Given the description of an element on the screen output the (x, y) to click on. 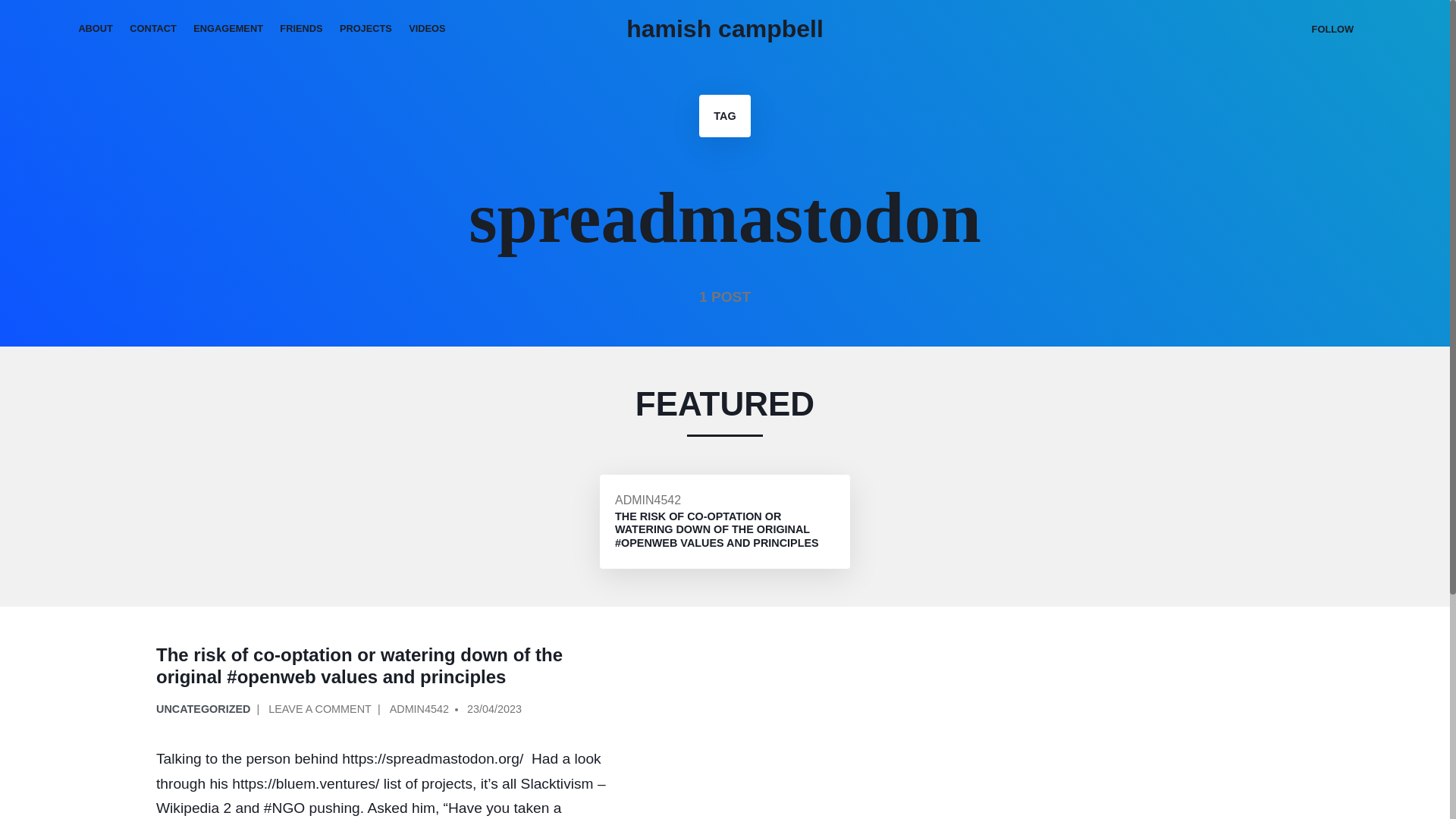
ABOUT (94, 28)
hamish campbell (725, 28)
CONTACT (152, 28)
PROJECTS (365, 28)
VIDEOS (427, 28)
FOLLOW (1332, 29)
Hamish Campbell (725, 28)
ENGAGEMENT (227, 28)
FRIENDS (300, 28)
